Given the description of an element on the screen output the (x, y) to click on. 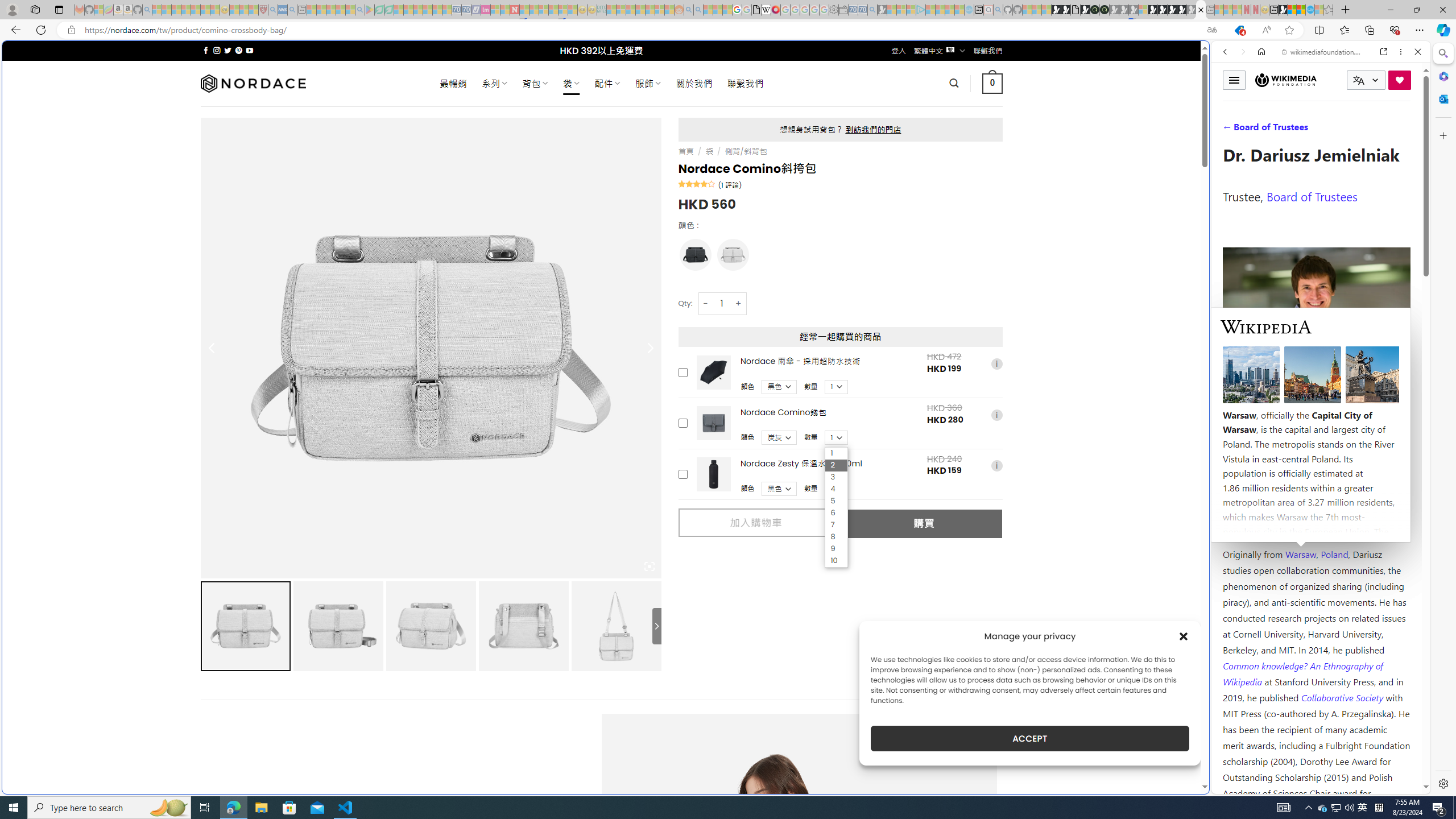
1 (836, 453)
 0  (992, 83)
Harvard University (1259, 526)
+ (738, 303)
